Given the description of an element on the screen output the (x, y) to click on. 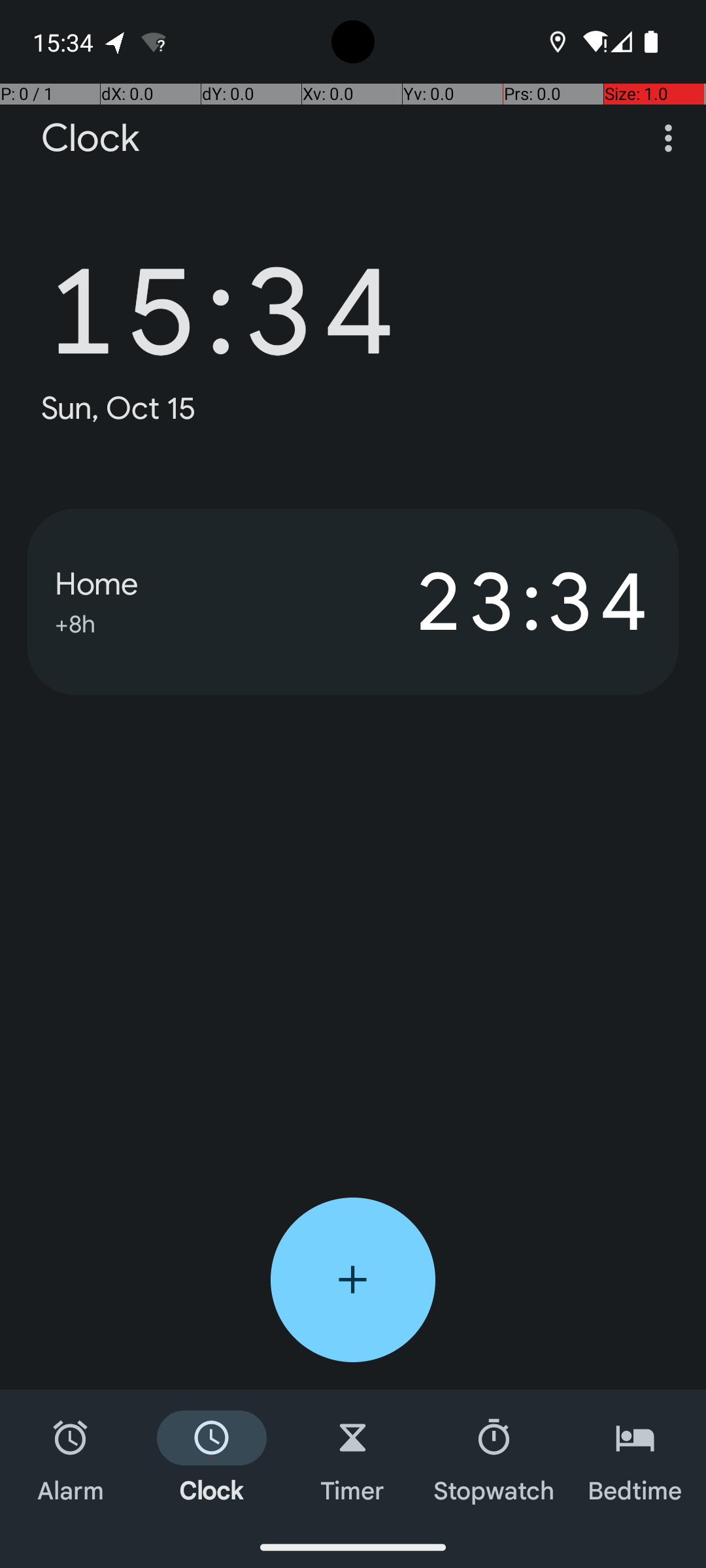
+8h Element type: android.widget.TextView (74, 621)
23:34 Element type: android.widget.TextView (502, 601)
